Given the description of an element on the screen output the (x, y) to click on. 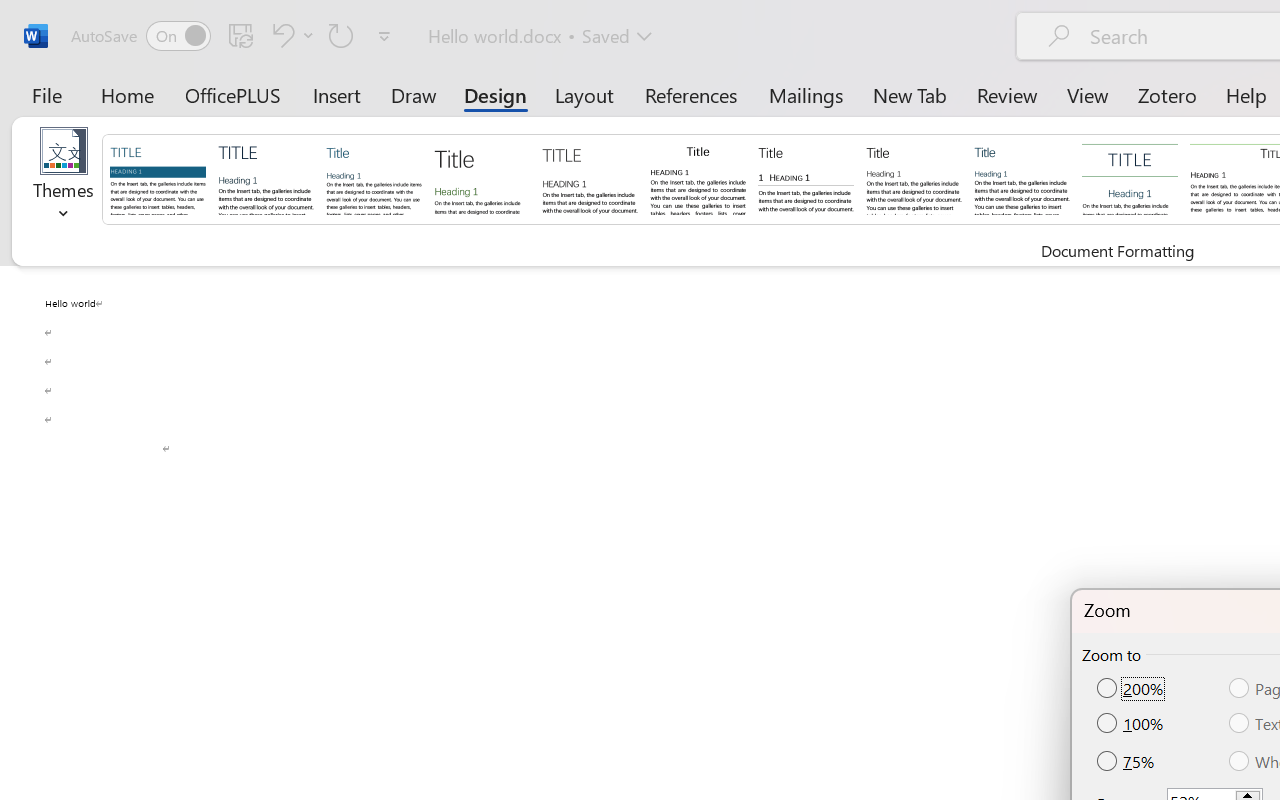
Zotero (1166, 94)
OfficePLUS (233, 94)
Draw (413, 94)
Basic (Stylish) (481, 178)
Black & White (Word 2013) (913, 178)
Can't Repeat (341, 35)
Black & White (Classic) (697, 178)
